Given the description of an element on the screen output the (x, y) to click on. 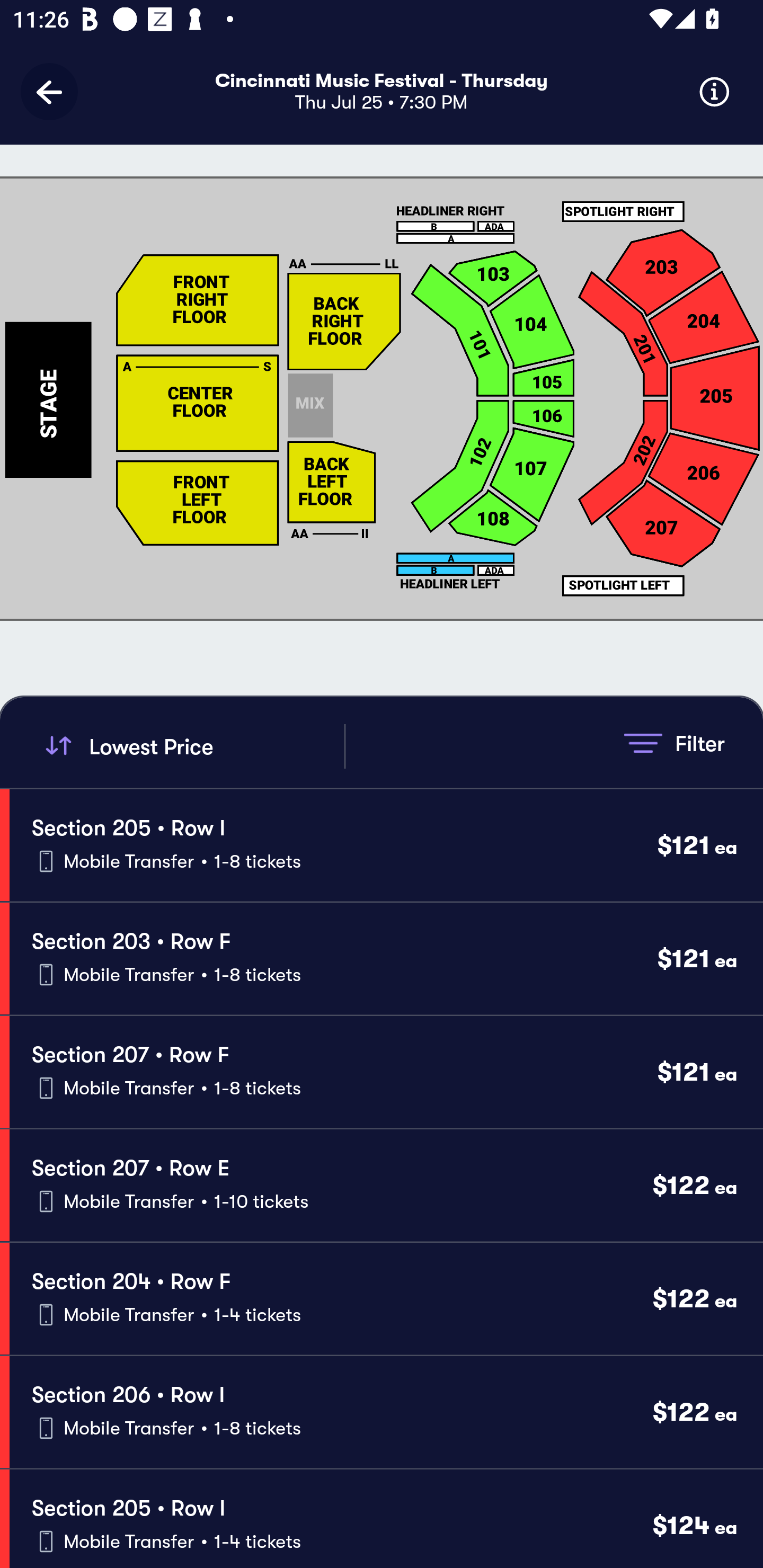
Lowest Price (191, 746)
Filter (674, 743)
